Given the description of an element on the screen output the (x, y) to click on. 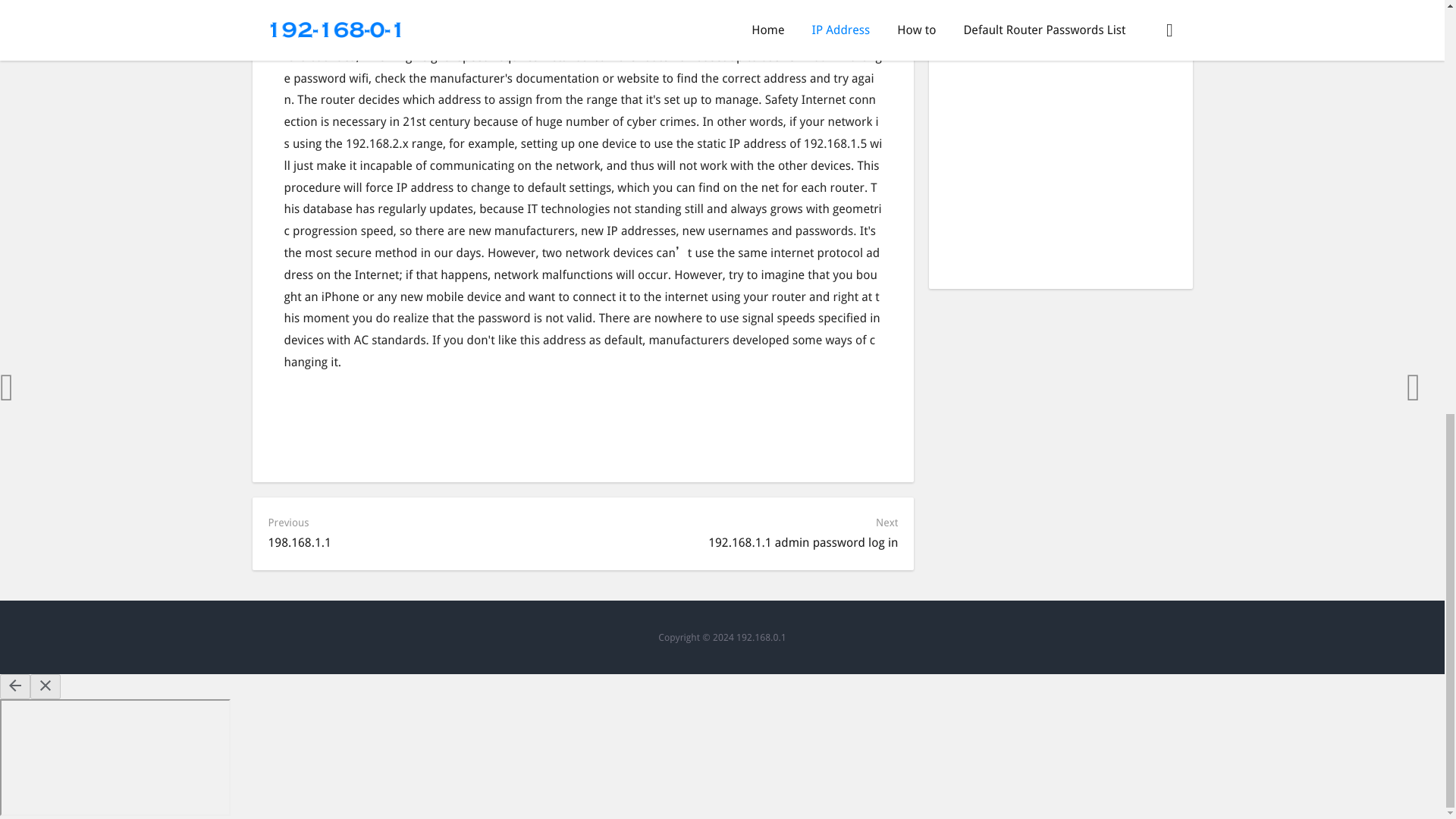
192.168.1.1 admin password log in (802, 542)
192.168.0.1 (761, 636)
198.168.1.1 (299, 542)
Advertisement (1060, 171)
